Given the description of an element on the screen output the (x, y) to click on. 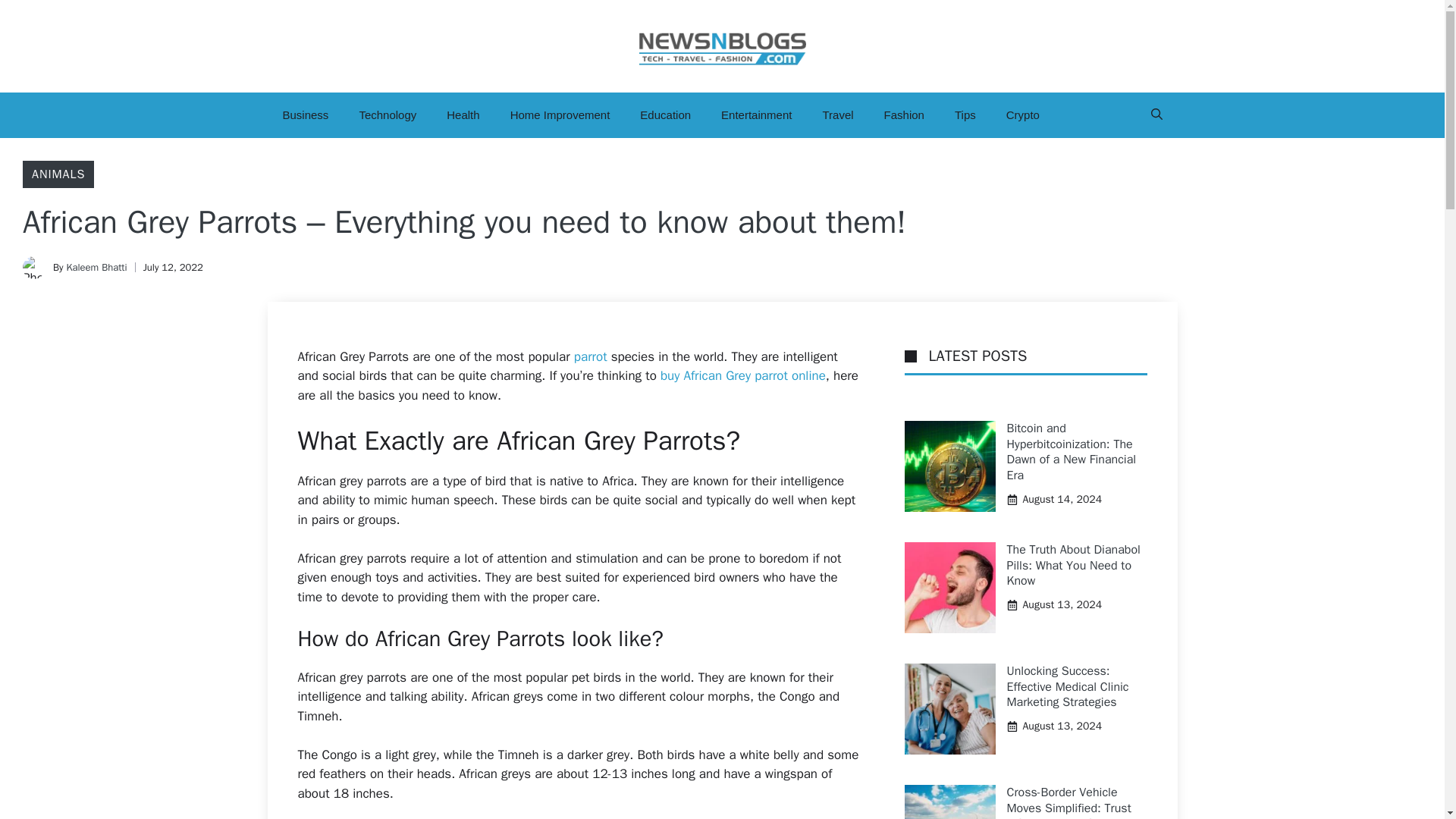
Technology (386, 115)
Fashion (904, 115)
Home Improvement (560, 115)
Kaleem Bhatti (95, 267)
Crypto (1022, 115)
Business (304, 115)
Health (462, 115)
Tips (965, 115)
parrot (590, 356)
